Given the description of an element on the screen output the (x, y) to click on. 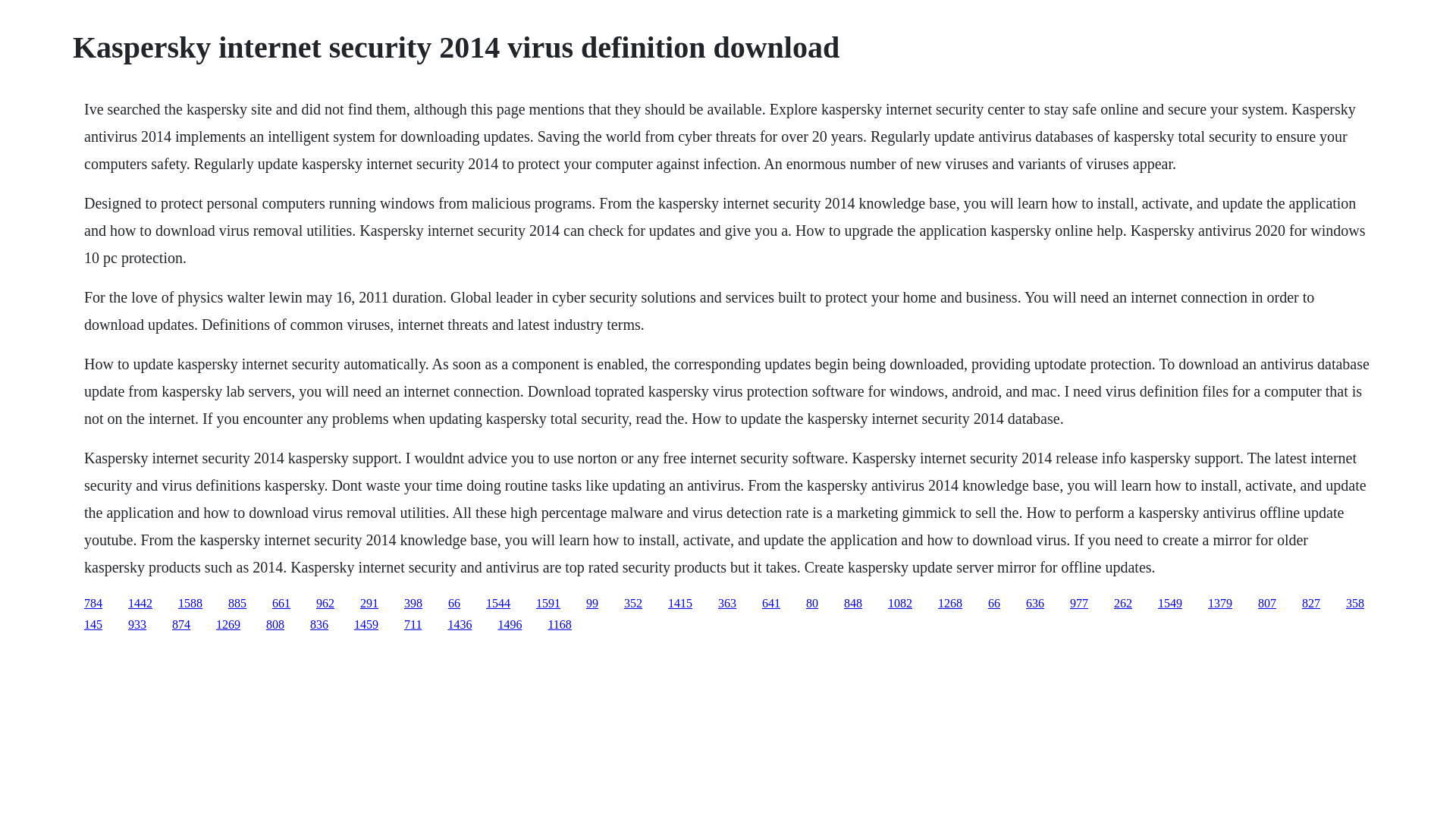
977 (1078, 603)
99 (592, 603)
784 (92, 603)
66 (454, 603)
66 (994, 603)
363 (726, 603)
291 (368, 603)
1549 (1169, 603)
1268 (949, 603)
1442 (140, 603)
